Given the description of an element on the screen output the (x, y) to click on. 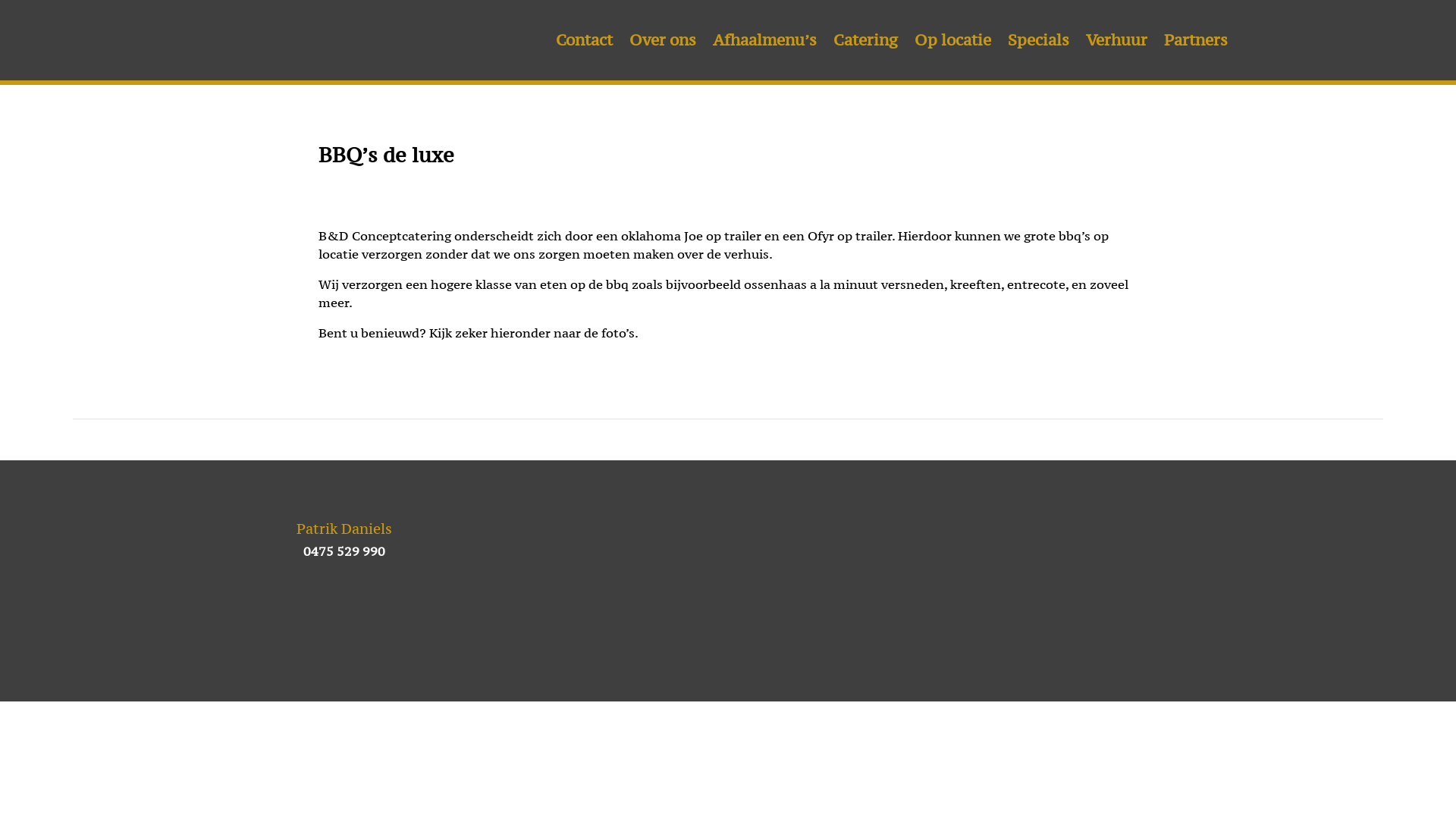
Specials Element type: text (1038, 42)
Verhuur Element type: text (1116, 42)
Contact Element type: text (583, 42)
Catering Element type: text (865, 42)
Partners Element type: text (1195, 42)
Op locatie Element type: text (952, 42)
Over ons Element type: text (662, 42)
